Given the description of an element on the screen output the (x, y) to click on. 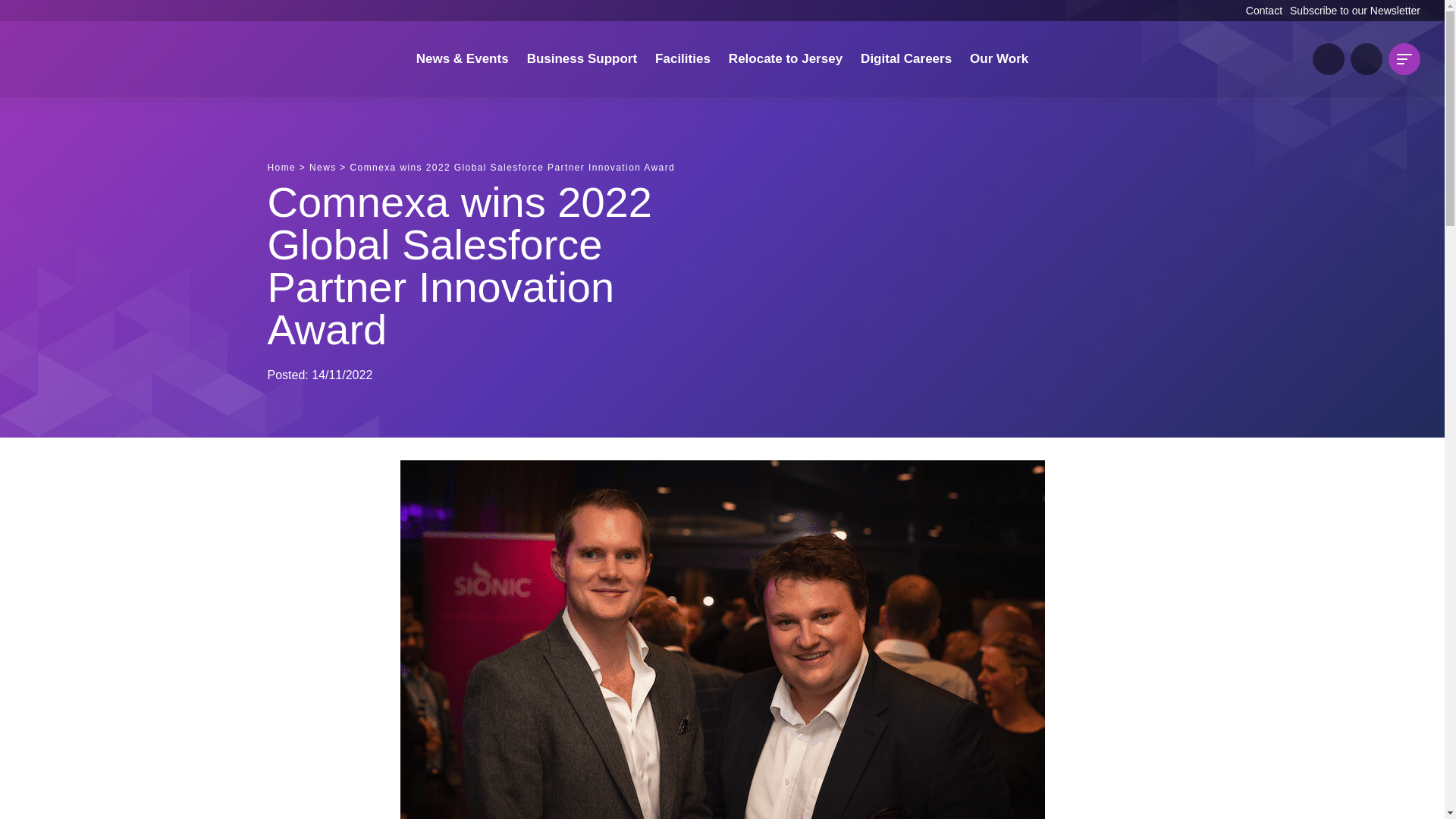
Contact (1264, 10)
Facilities (682, 59)
Digital Careers (905, 59)
Relocate to Jersey (785, 59)
Business Support (582, 59)
Subscribe to our Newsletter (1355, 10)
